Given the description of an element on the screen output the (x, y) to click on. 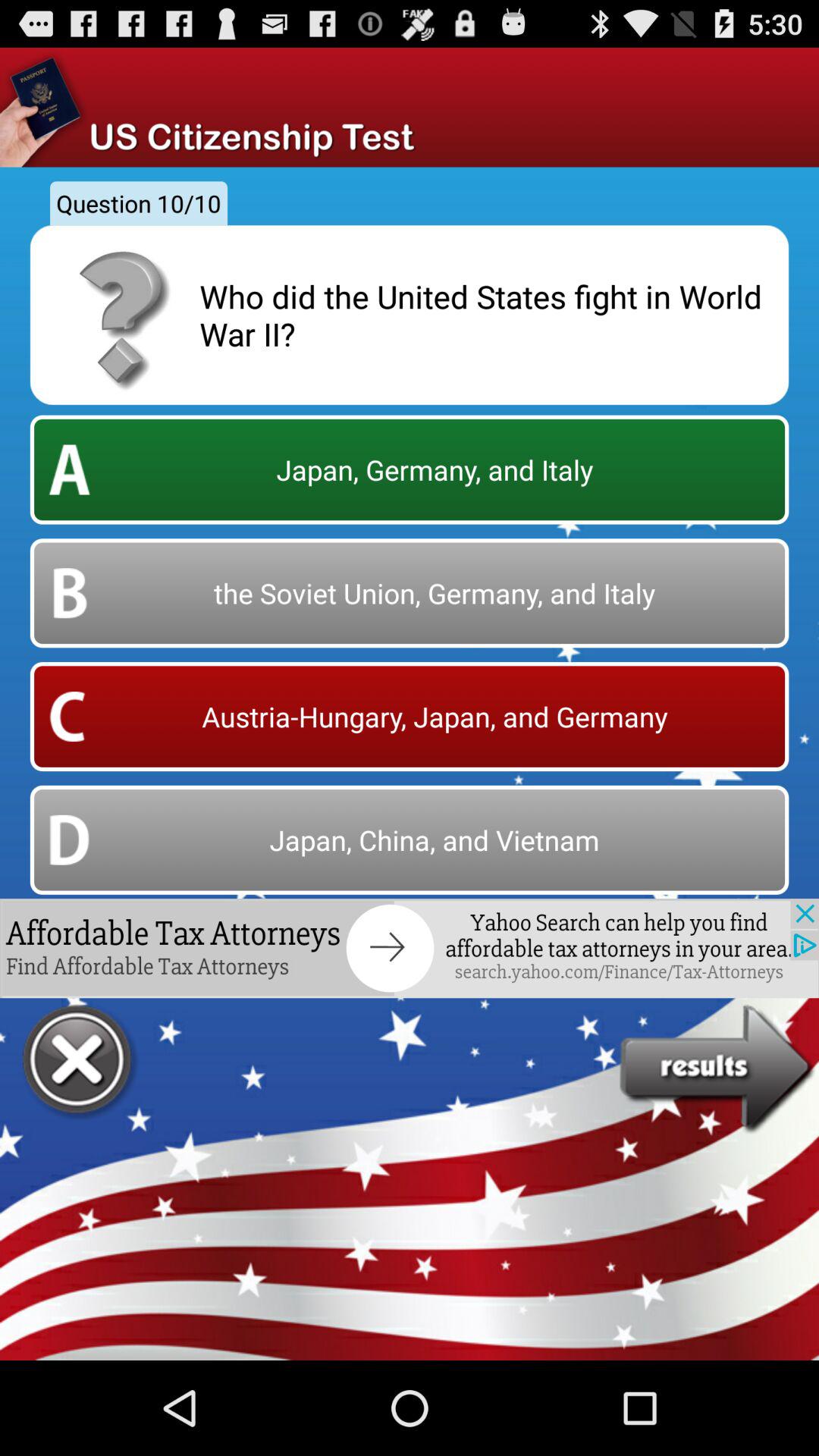
closes the panel (79, 1061)
